Given the description of an element on the screen output the (x, y) to click on. 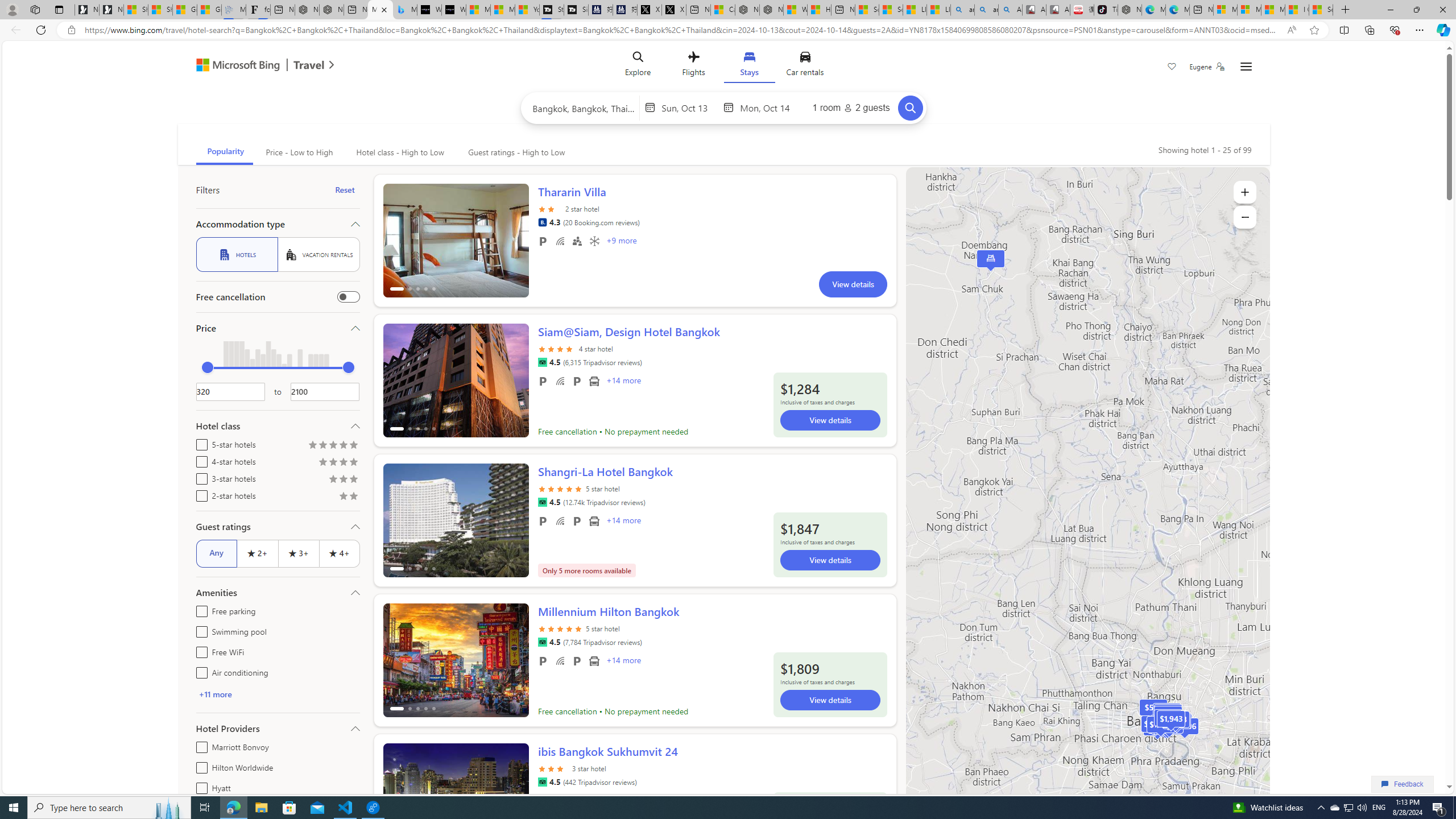
Zoom out (1244, 216)
amazon - Search Images (986, 9)
5-star hotels (199, 442)
Any (216, 553)
Guest ratings (277, 526)
max  (348, 367)
Free WiFi (199, 650)
Price (277, 327)
Class: msft-bing-logo msft-bing-logo-desktop (234, 64)
Family friendly (577, 240)
AutomationID: TextField872 (230, 391)
